Given the description of an element on the screen output the (x, y) to click on. 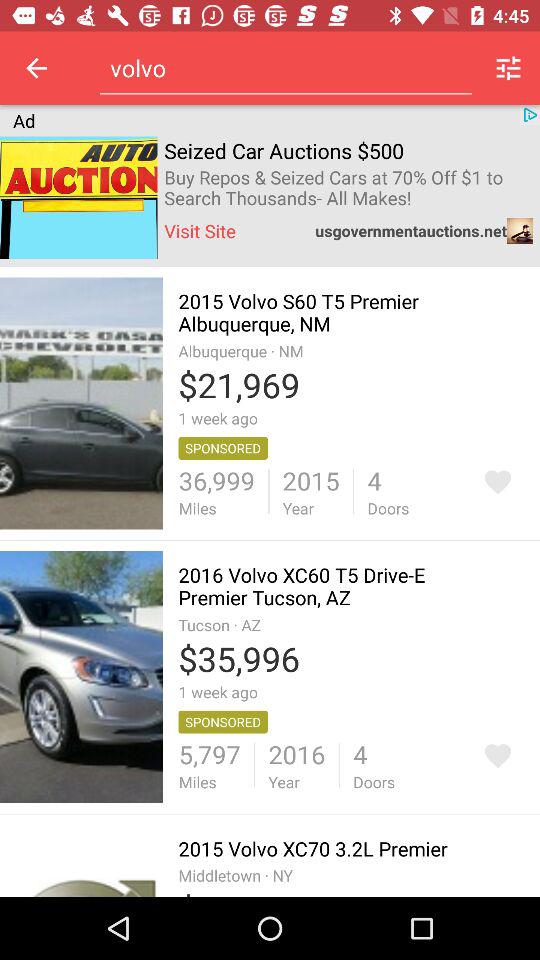
favorites the car listing (497, 482)
